Given the description of an element on the screen output the (x, y) to click on. 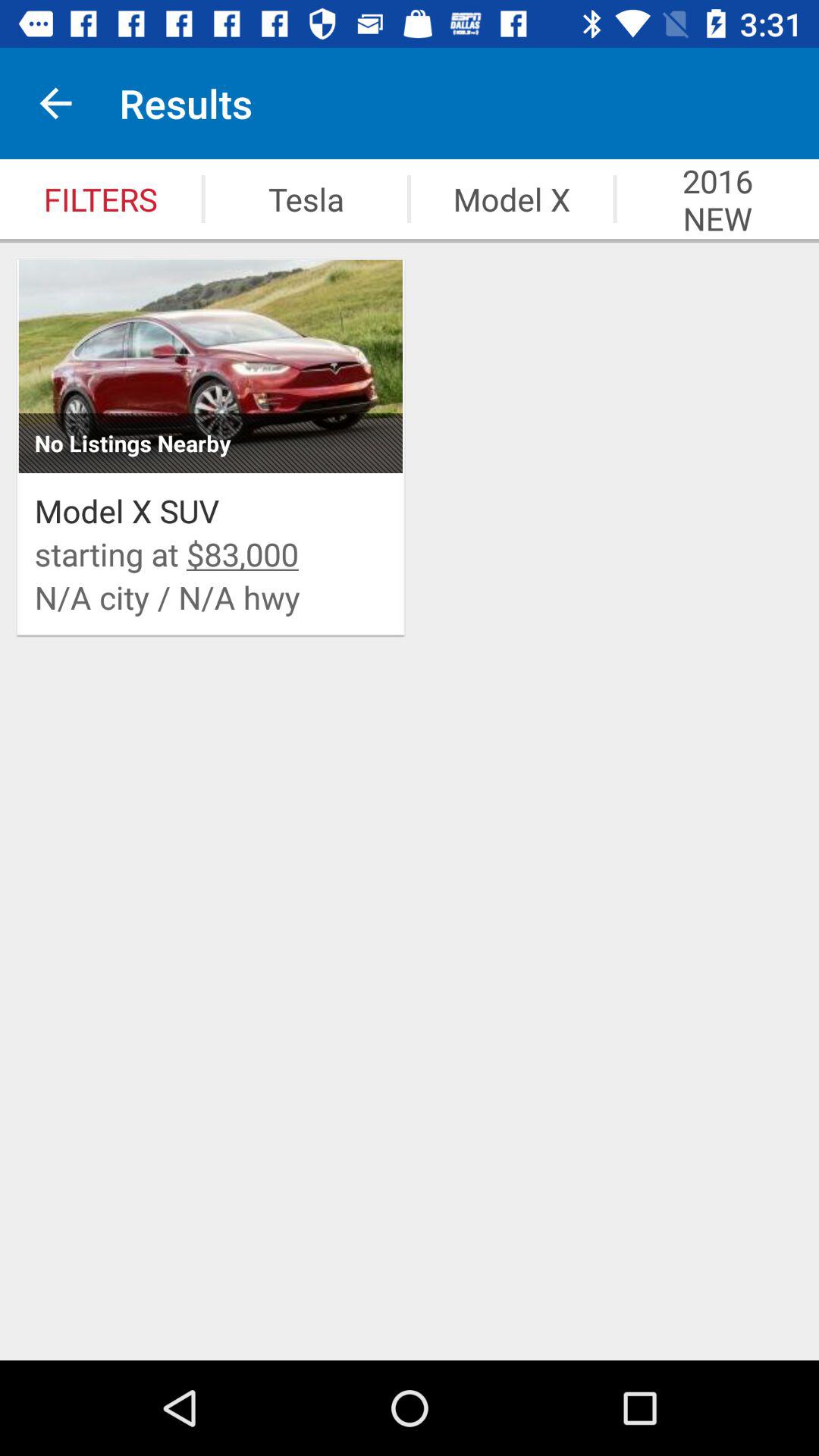
launch app to the left of results app (55, 103)
